Given the description of an element on the screen output the (x, y) to click on. 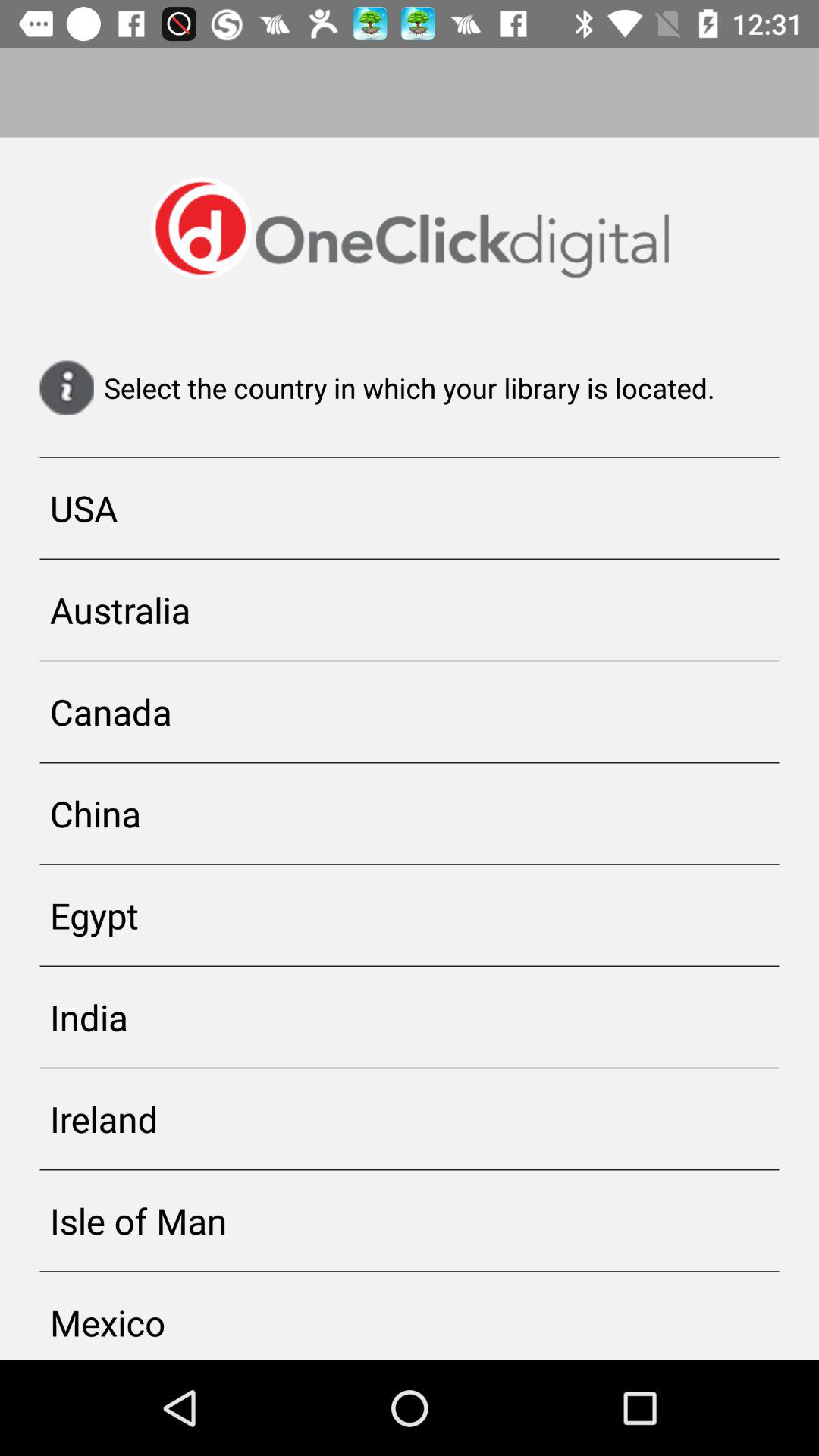
scroll to usa (409, 507)
